Given the description of an element on the screen output the (x, y) to click on. 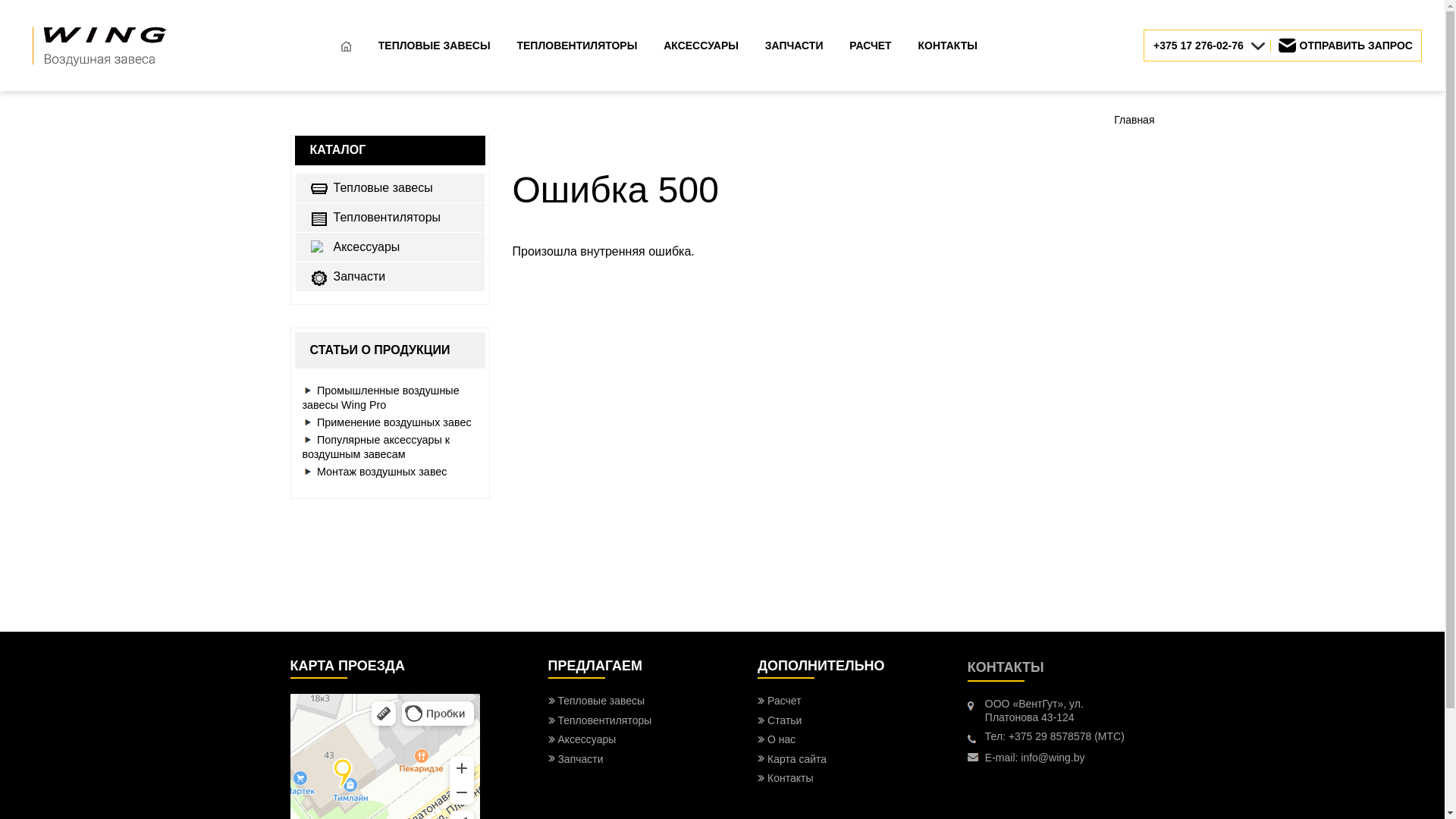
info@wing.by Element type: text (1052, 757)
Wing.by Element type: hover (98, 68)
+375 17 276-02-76 Element type: text (1210, 45)
